Given the description of an element on the screen output the (x, y) to click on. 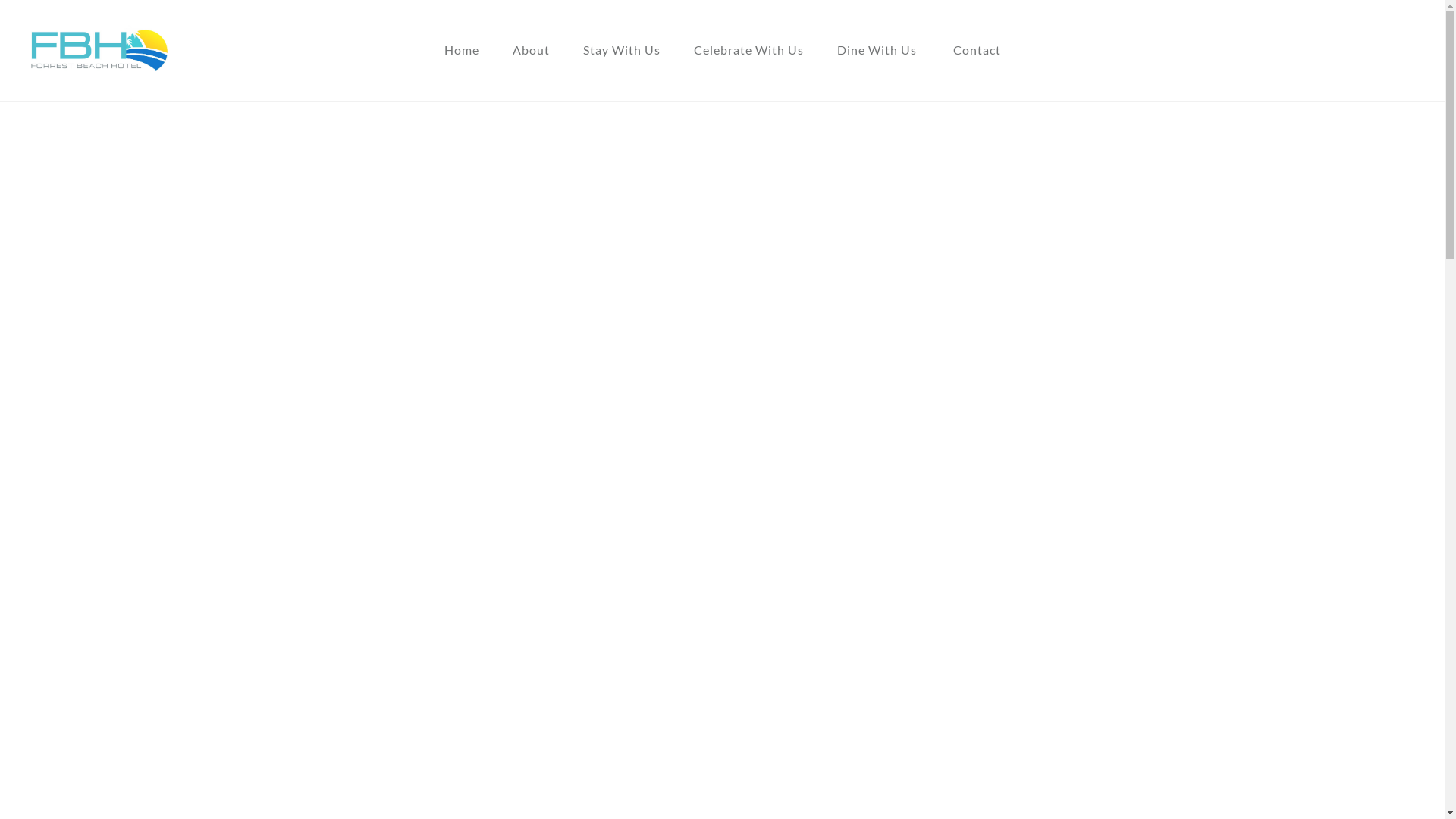
Dine With Us Element type: text (876, 49)
Stay With Us Element type: text (620, 49)
Celebrate With Us Element type: text (748, 49)
Home Element type: text (461, 49)
About Element type: text (530, 49)
Contact Element type: text (976, 49)
